Given the description of an element on the screen output the (x, y) to click on. 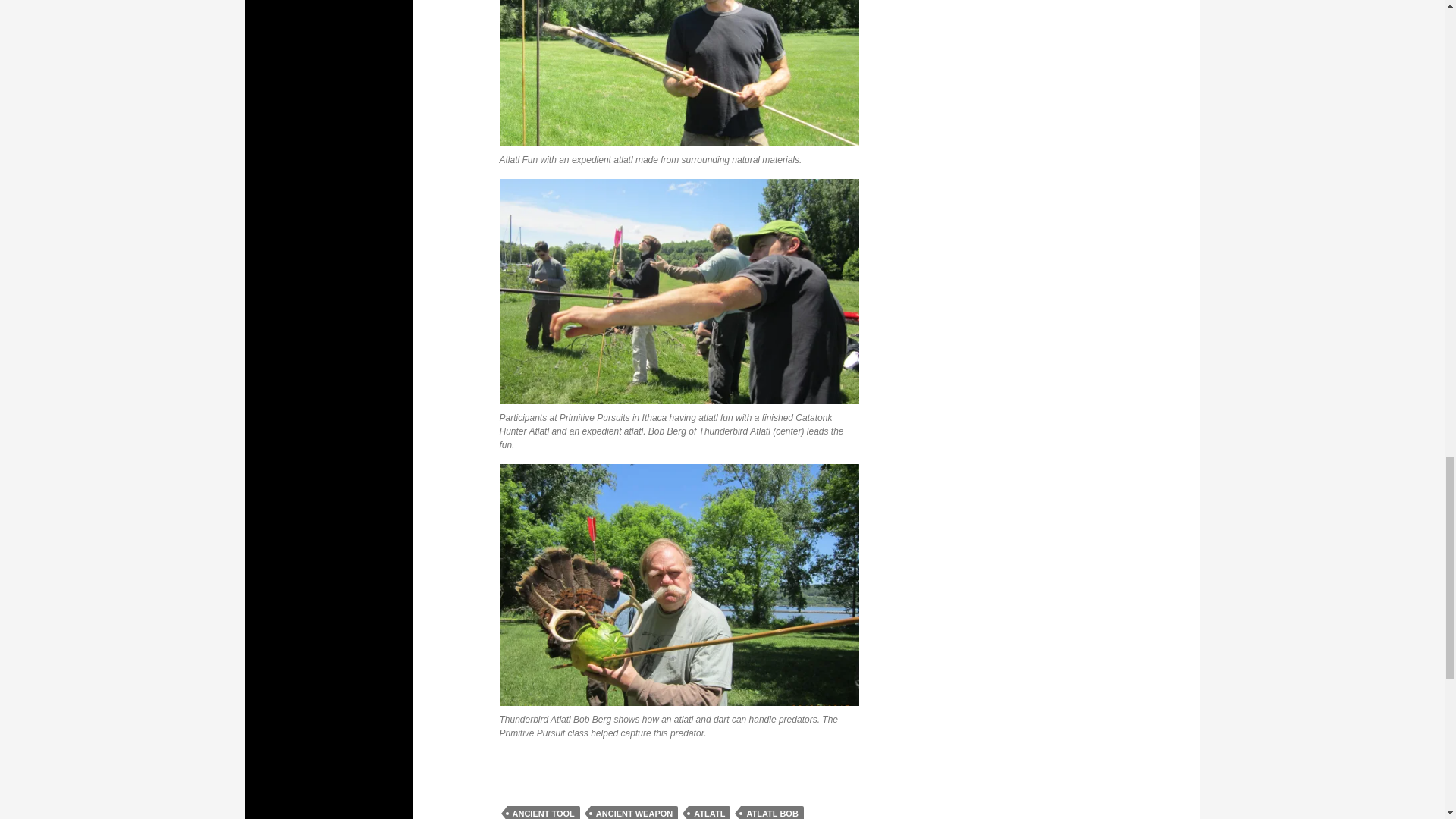
ANCIENT WEAPON (634, 812)
ATLATL (709, 812)
ATLATL BOB (772, 812)
ANCIENT TOOL (542, 812)
